Given the description of an element on the screen output the (x, y) to click on. 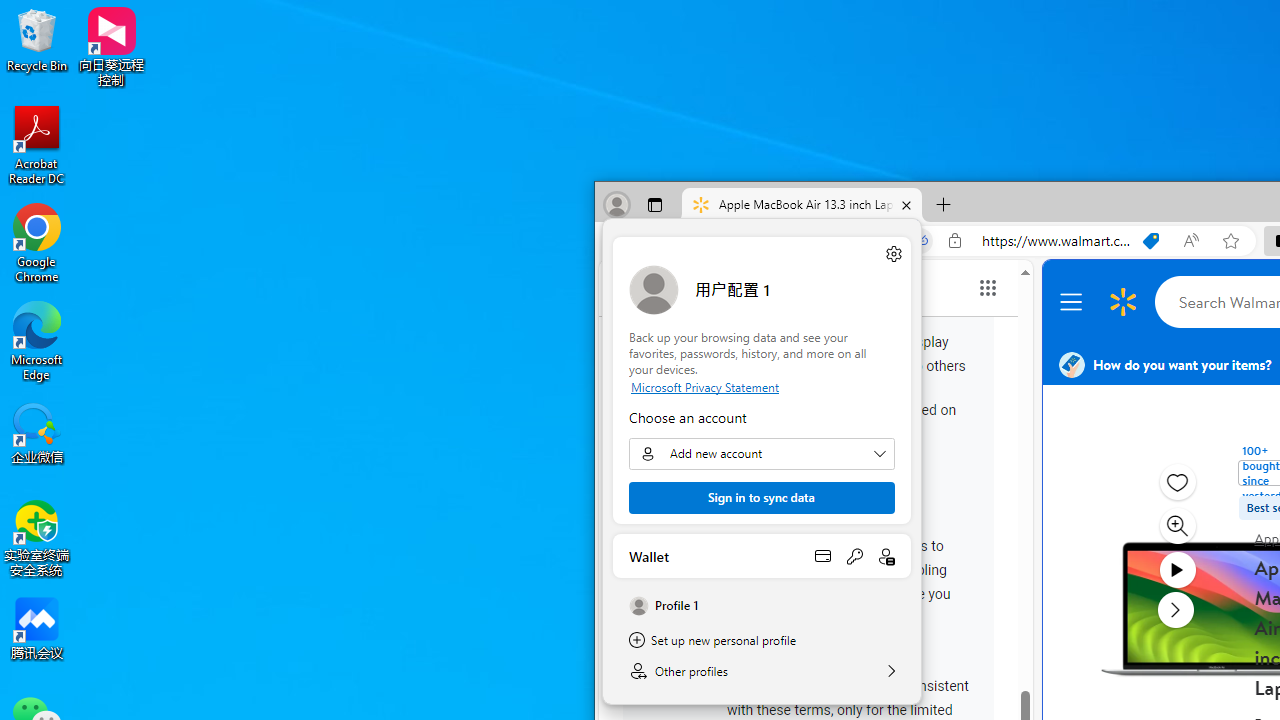
View video (1176, 570)
Open passwords (854, 555)
Open personal info (886, 555)
